Given the description of an element on the screen output the (x, y) to click on. 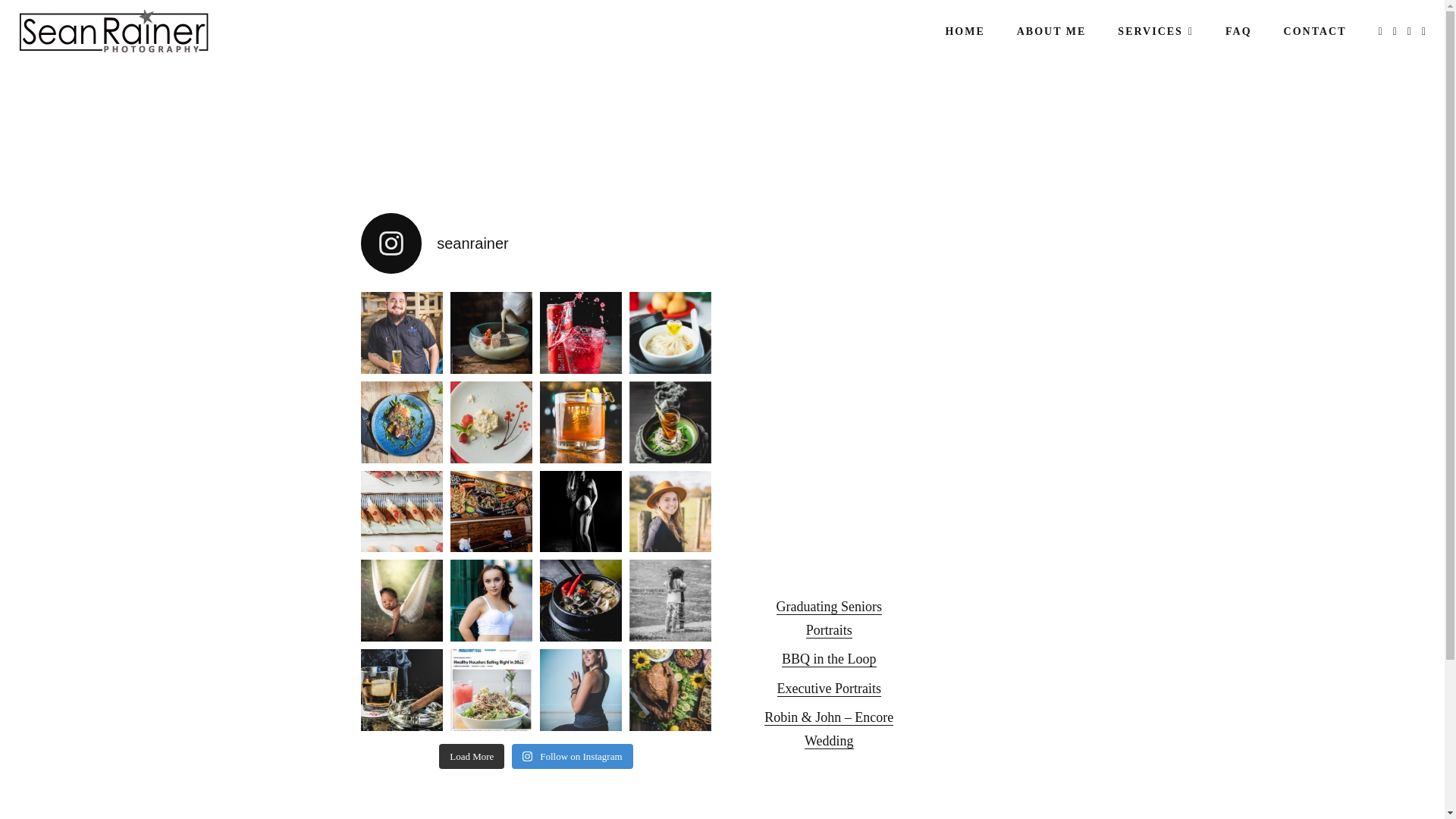
CONTACT (1315, 31)
ABOUT ME (1051, 31)
seanrainer (535, 242)
HOME (964, 31)
SERVICES (1155, 31)
